Given the description of an element on the screen output the (x, y) to click on. 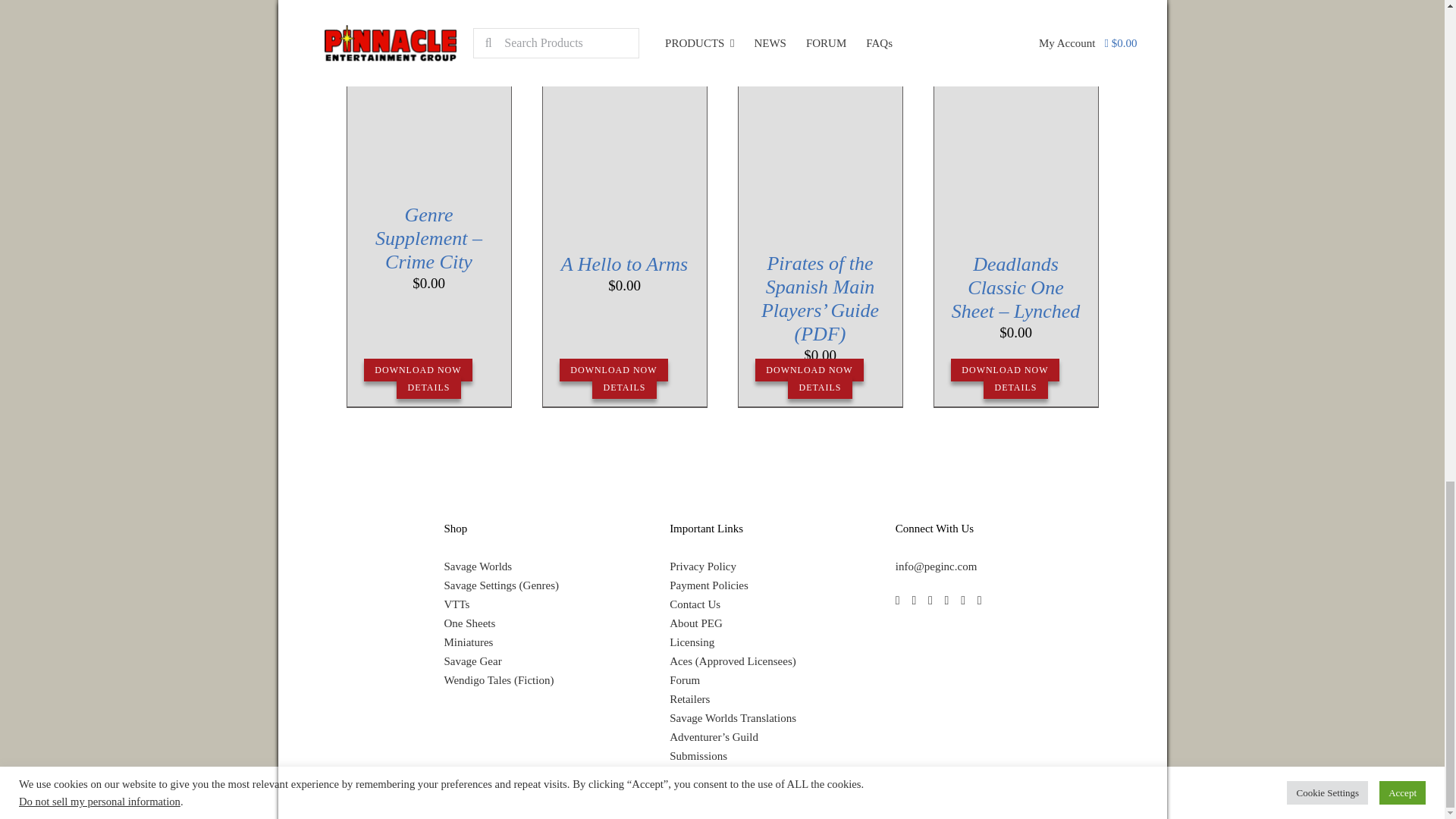
Facebook (897, 600)
Reddit (978, 600)
Instagram (930, 600)
YouTube (962, 600)
Twitter (913, 600)
Twitch (946, 600)
